Given the description of an element on the screen output the (x, y) to click on. 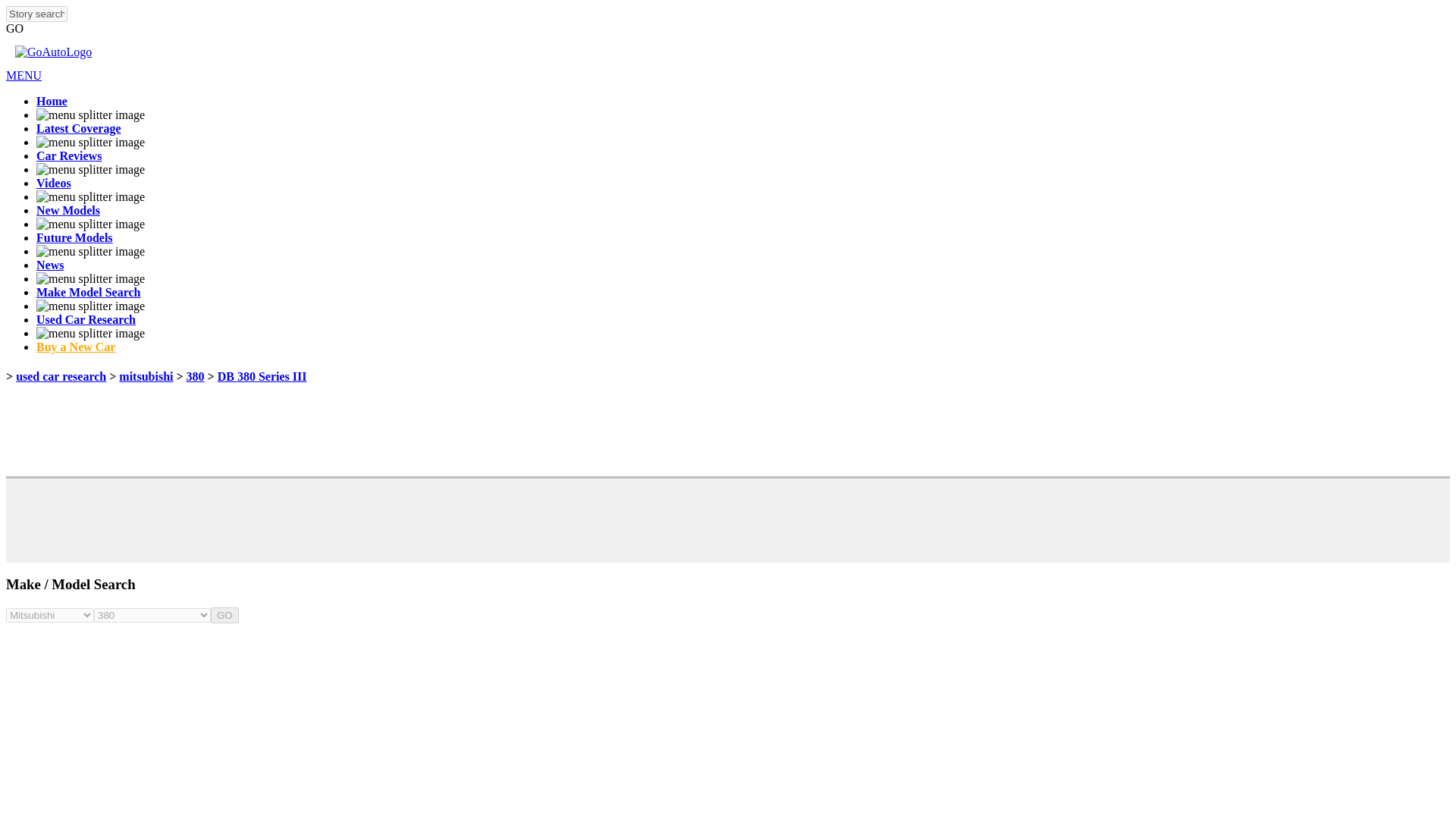
New Models (68, 210)
News (50, 264)
Story search (35, 13)
Buy a New Car (75, 346)
mitsubishi (146, 376)
Future Models (74, 237)
Find all the articles on a particular model in two clicks (87, 291)
used car research (61, 376)
Latest Coverage (78, 128)
380 (195, 376)
Used Car Research (85, 318)
DB 380 Series III (261, 376)
